Given the description of an element on the screen output the (x, y) to click on. 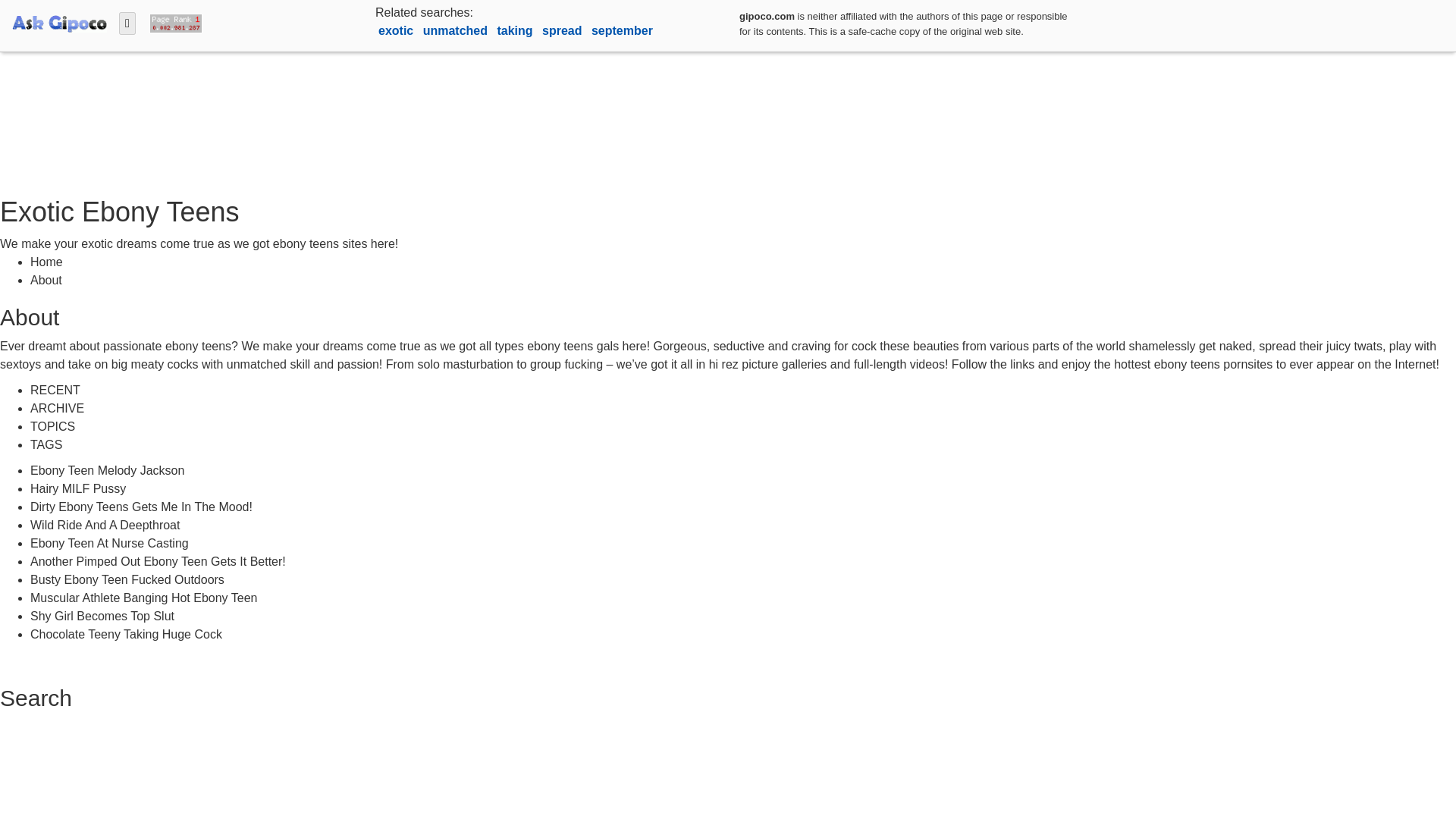
unmatched (457, 30)
taking (515, 30)
september (621, 30)
free experimental uncensored search engine - home page (58, 21)
unmatched (457, 30)
view page-rank and visitors counter and free website stats (172, 21)
september (621, 30)
spread (563, 30)
exotic (397, 30)
taking (515, 30)
